Given the description of an element on the screen output the (x, y) to click on. 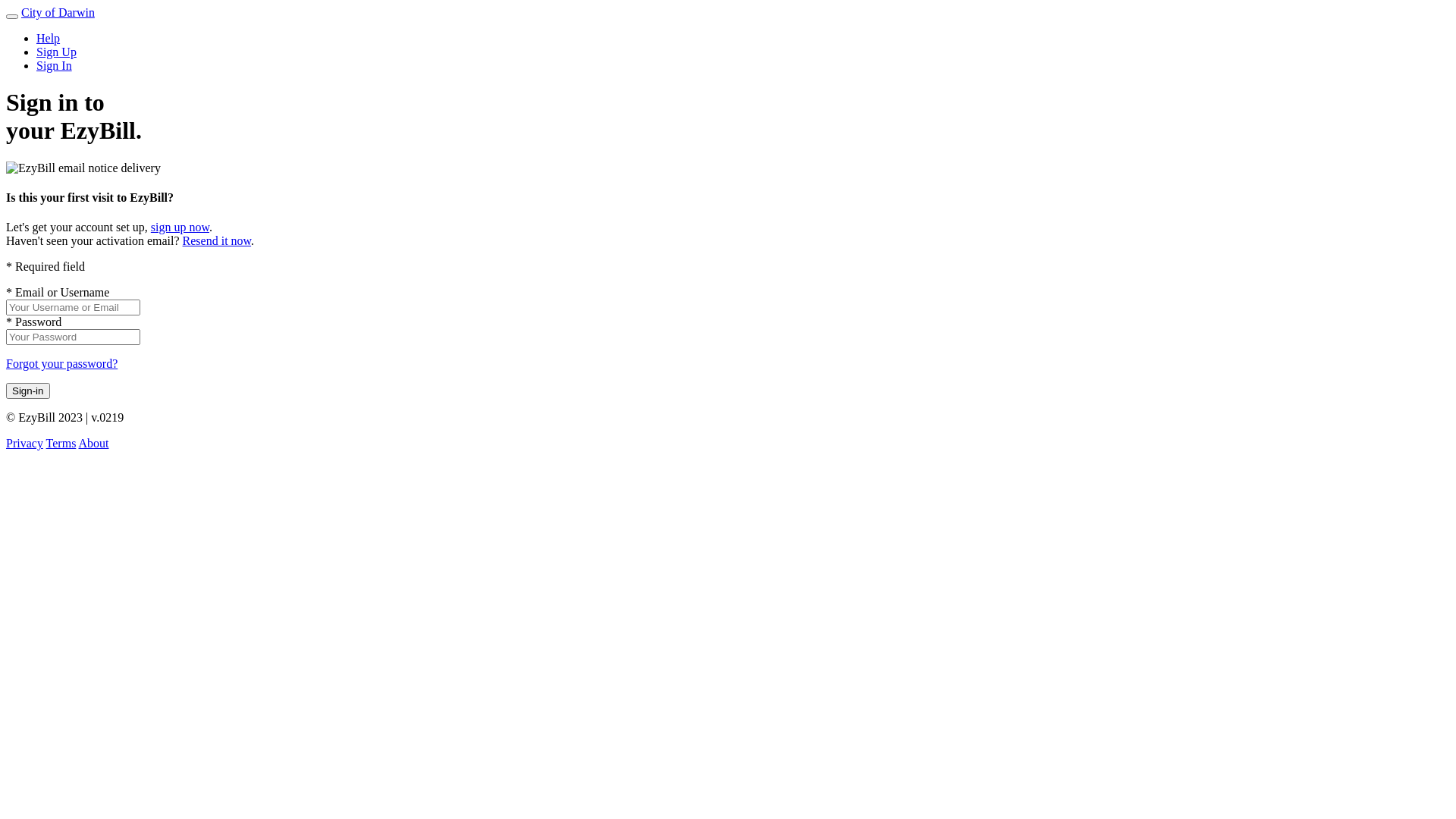
Forgot your password? Element type: text (61, 363)
Privacy Element type: text (24, 442)
Top Menu Element type: hover (12, 16)
Sign Up Element type: text (56, 51)
Resend it now Element type: text (216, 240)
sign up now Element type: text (179, 226)
City of Darwin Element type: text (57, 12)
Sign-in Element type: text (28, 390)
Sign In Element type: text (54, 65)
Terms Element type: text (61, 442)
Help Element type: text (47, 37)
About Element type: text (93, 442)
